Given the description of an element on the screen output the (x, y) to click on. 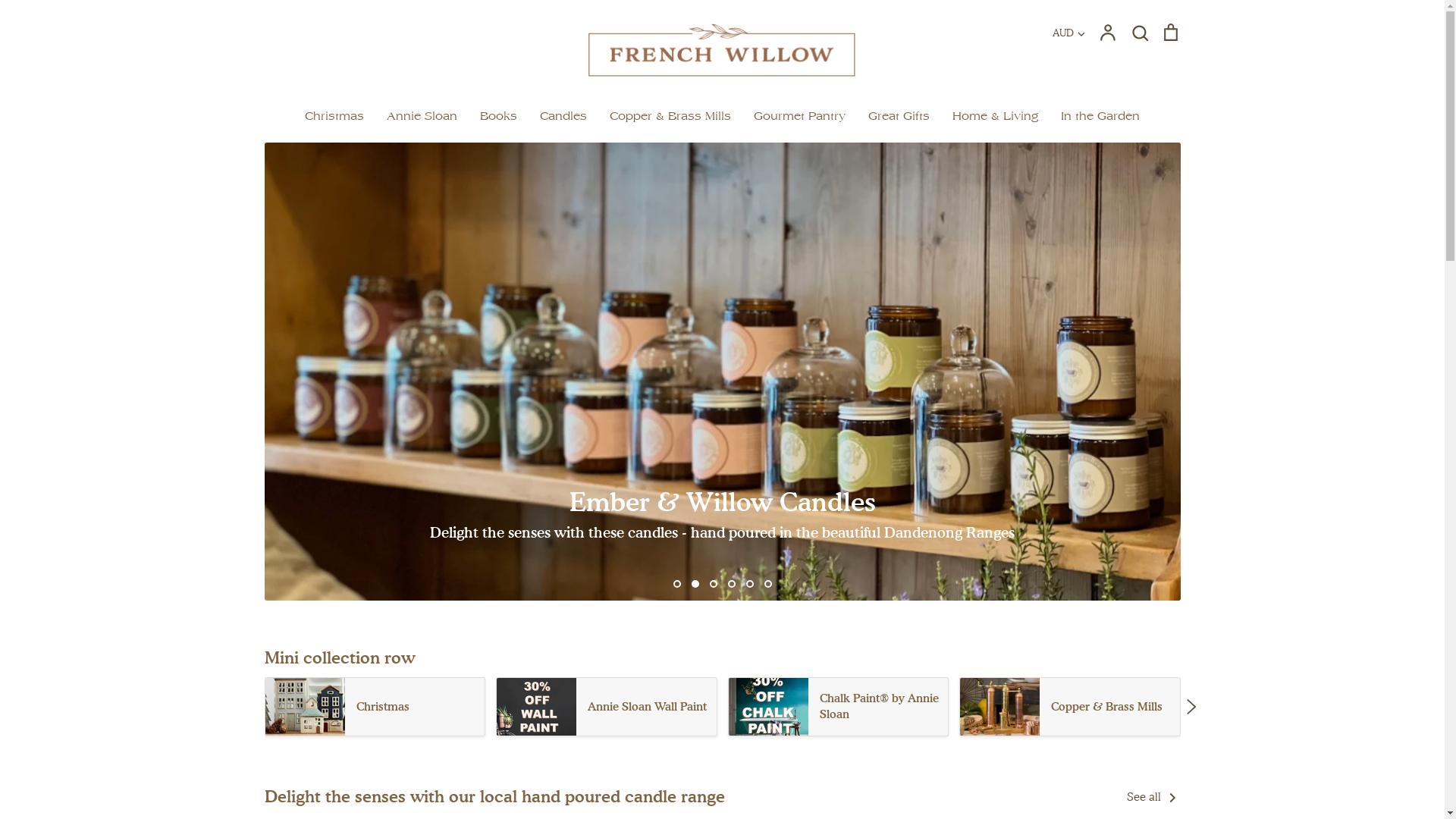
2 Element type: text (695, 583)
See all Element type: text (1153, 796)
Cart Element type: text (1169, 32)
Great Gifts Element type: text (898, 115)
1 Element type: text (676, 583)
Annie Sloan Element type: text (421, 115)
Home & Living Element type: text (995, 115)
Books Element type: text (498, 115)
Copper & Brass Mills Element type: text (1069, 706)
Copper & Brass Mills Element type: text (670, 115)
Christmas Element type: text (334, 115)
Account Element type: text (1107, 32)
Search Element type: text (1139, 32)
Candles Element type: text (562, 115)
Gourmet Pantry Element type: text (799, 115)
Delight the senses with our local hand poured candle range Element type: text (493, 795)
6 Element type: text (767, 583)
3 Element type: text (713, 583)
In the Garden Element type: text (1099, 115)
Christmas Element type: text (374, 706)
5 Element type: text (749, 583)
Annie Sloan Wall Paint Element type: text (606, 706)
4 Element type: text (731, 583)
